Given the description of an element on the screen output the (x, y) to click on. 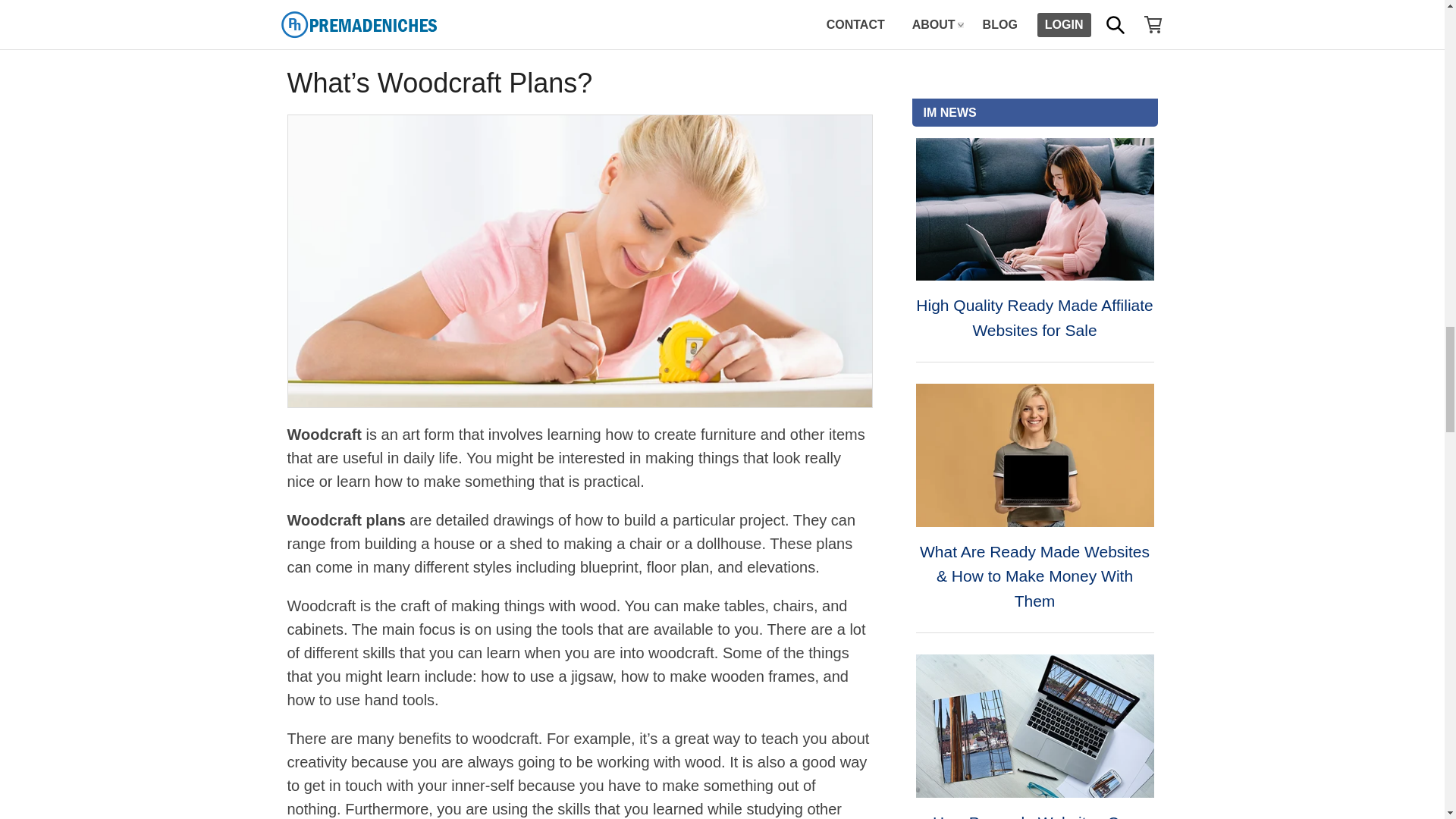
easy-to-install woodcraft website (647, 15)
